Given the description of an element on the screen output the (x, y) to click on. 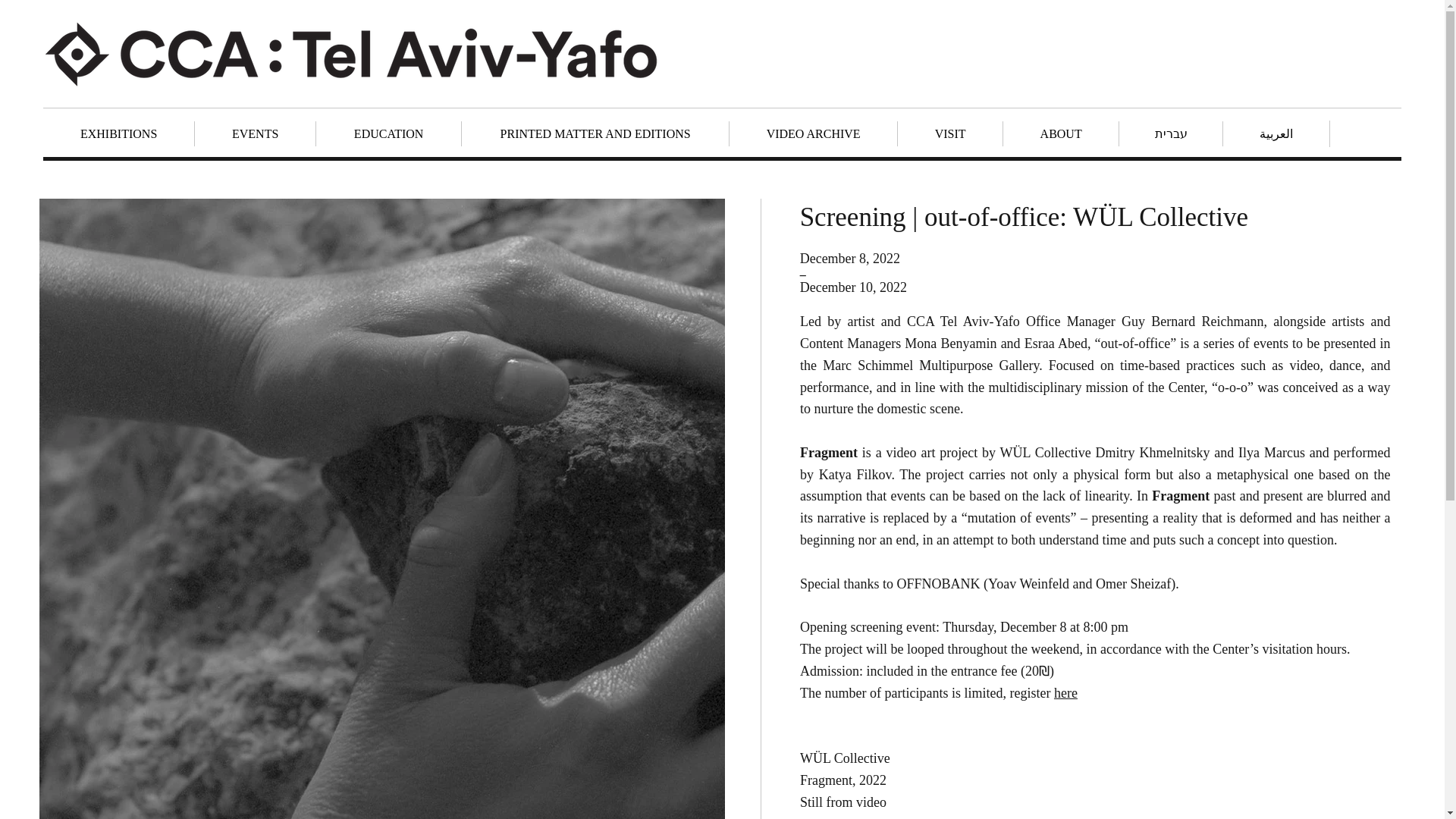
EXHIBITIONS (118, 133)
EDUCATION (388, 133)
ABOUT (1060, 133)
EVENTS (254, 133)
here (1065, 693)
PRINTED MATTER AND EDITIONS (595, 133)
VISIT (949, 133)
VIDEO ARCHIVE (812, 133)
